Given the description of an element on the screen output the (x, y) to click on. 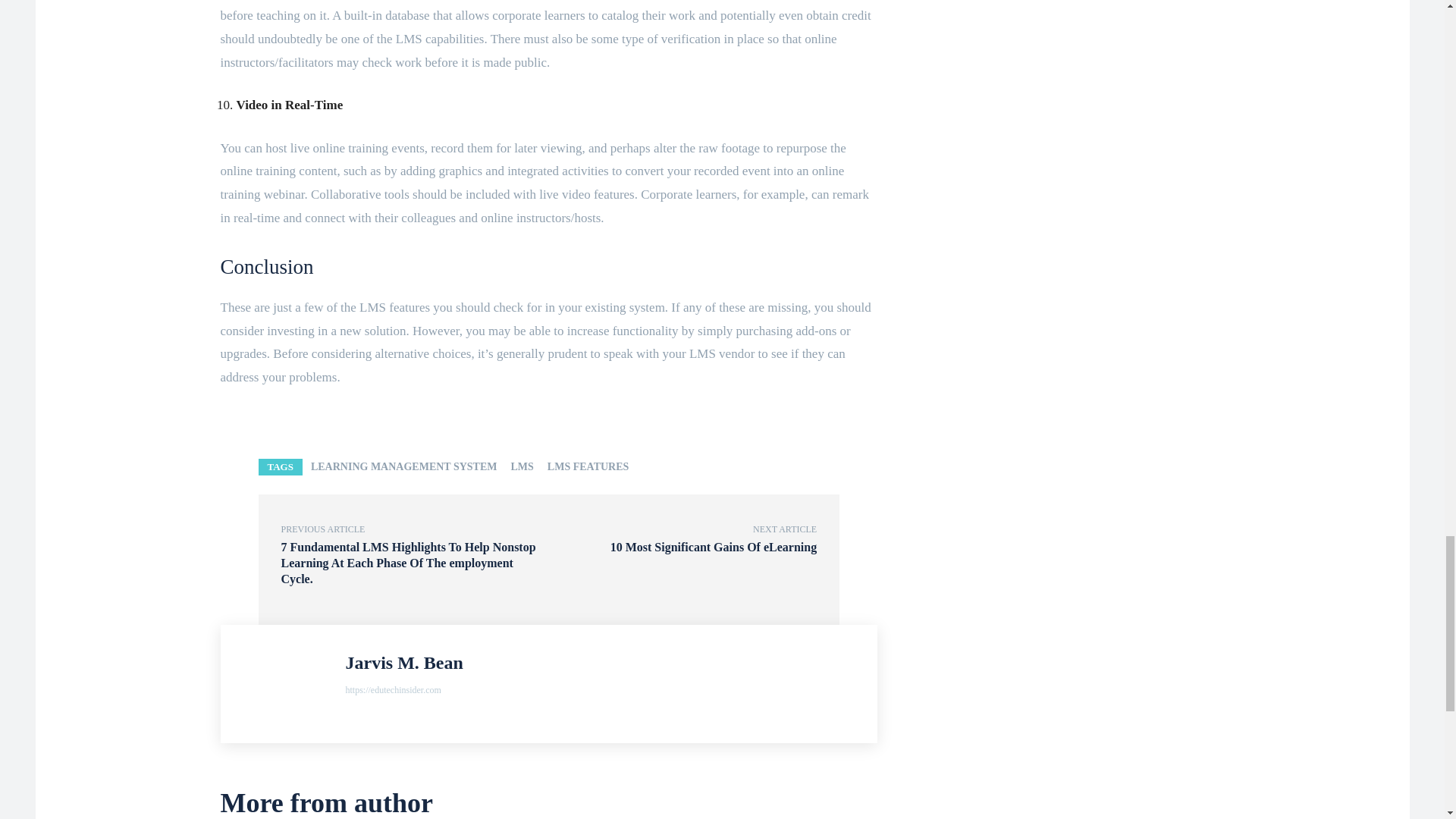
Jarvis M. Bean (286, 683)
LMS (521, 467)
10 Most Significant Gains Of eLearning (713, 546)
Jarvis M. Bean (404, 662)
LMS FEATURES (587, 467)
LEARNING MANAGEMENT SYSTEM (403, 467)
